Given the description of an element on the screen output the (x, y) to click on. 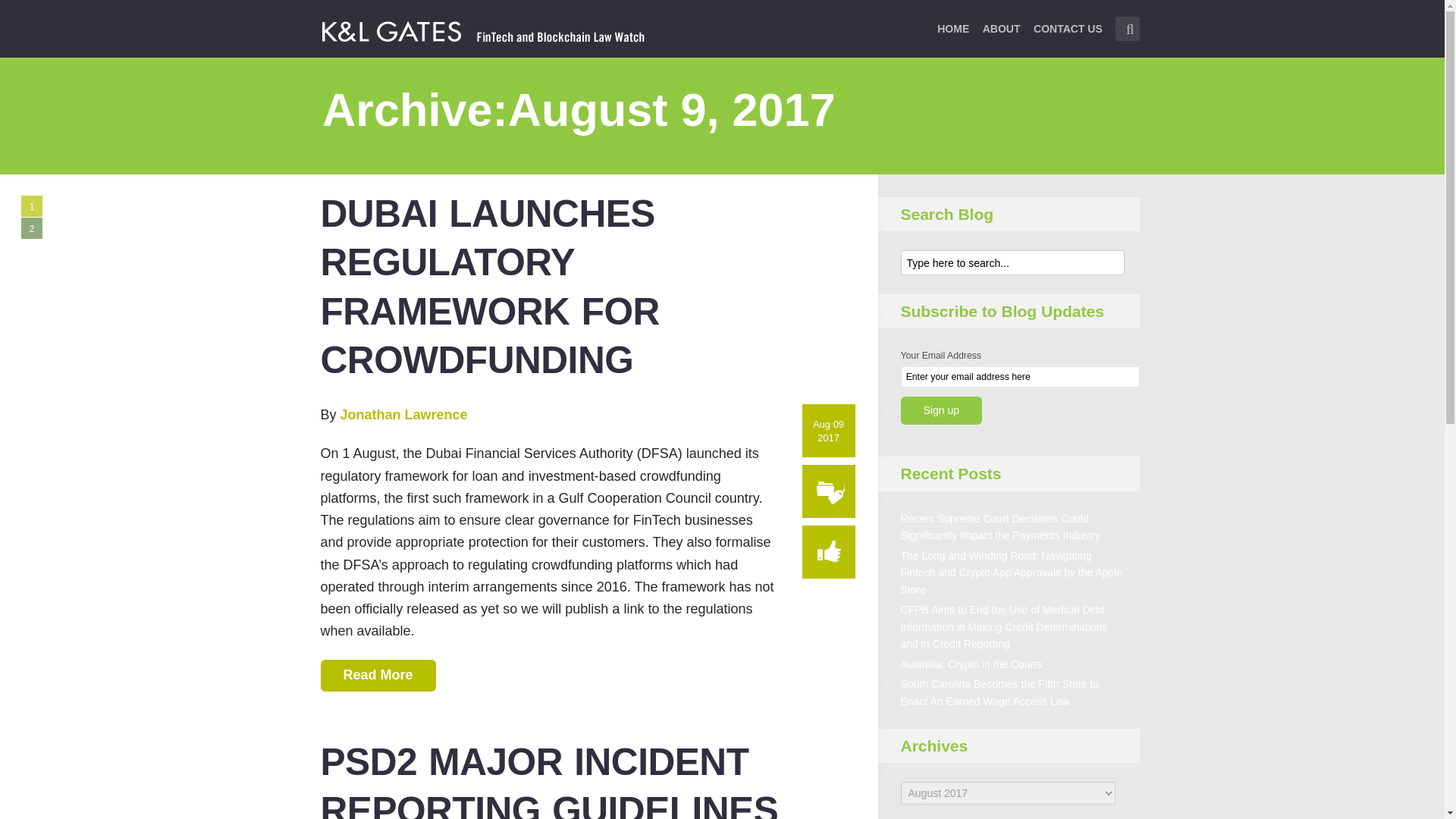
DUBAI LAUNCHES REGULATORY FRAMEWORK FOR CROWDFUNDING (489, 286)
1 (31, 206)
CONTACT US (1067, 37)
Sign up (941, 410)
Type here to search... (1012, 262)
Type here to search... (1126, 28)
PSD2 major incident reporting guidelines (548, 780)
PSD2 MAJOR INCIDENT REPORTING GUIDELINES (548, 780)
Dubai launches regulatory framework for crowdfunding (489, 286)
2 (31, 228)
Type here to search... (1012, 262)
FinTech and Blockchain Law Watch (483, 30)
